Given the description of an element on the screen output the (x, y) to click on. 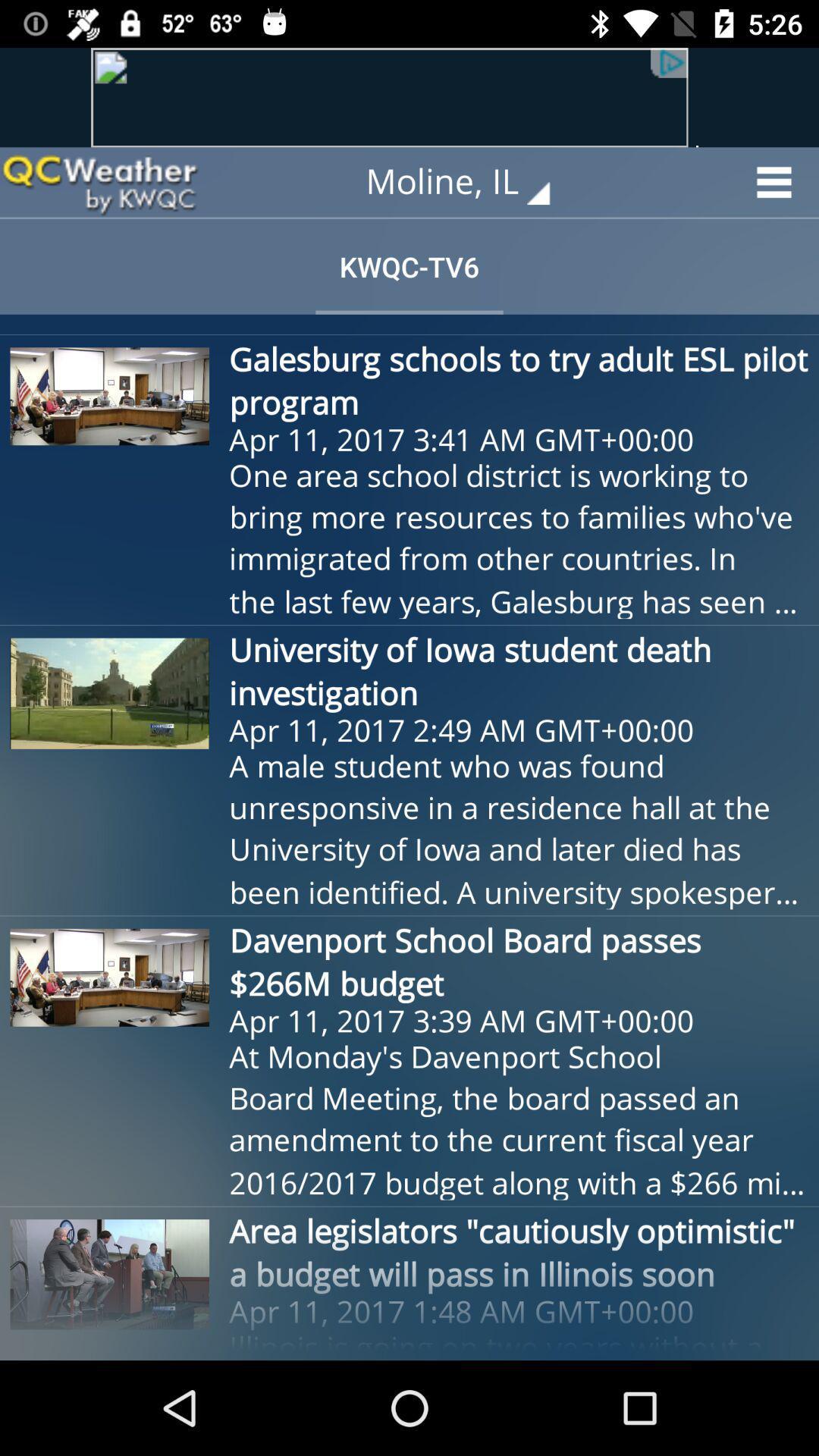
flip until moline, il item (468, 182)
